Given the description of an element on the screen output the (x, y) to click on. 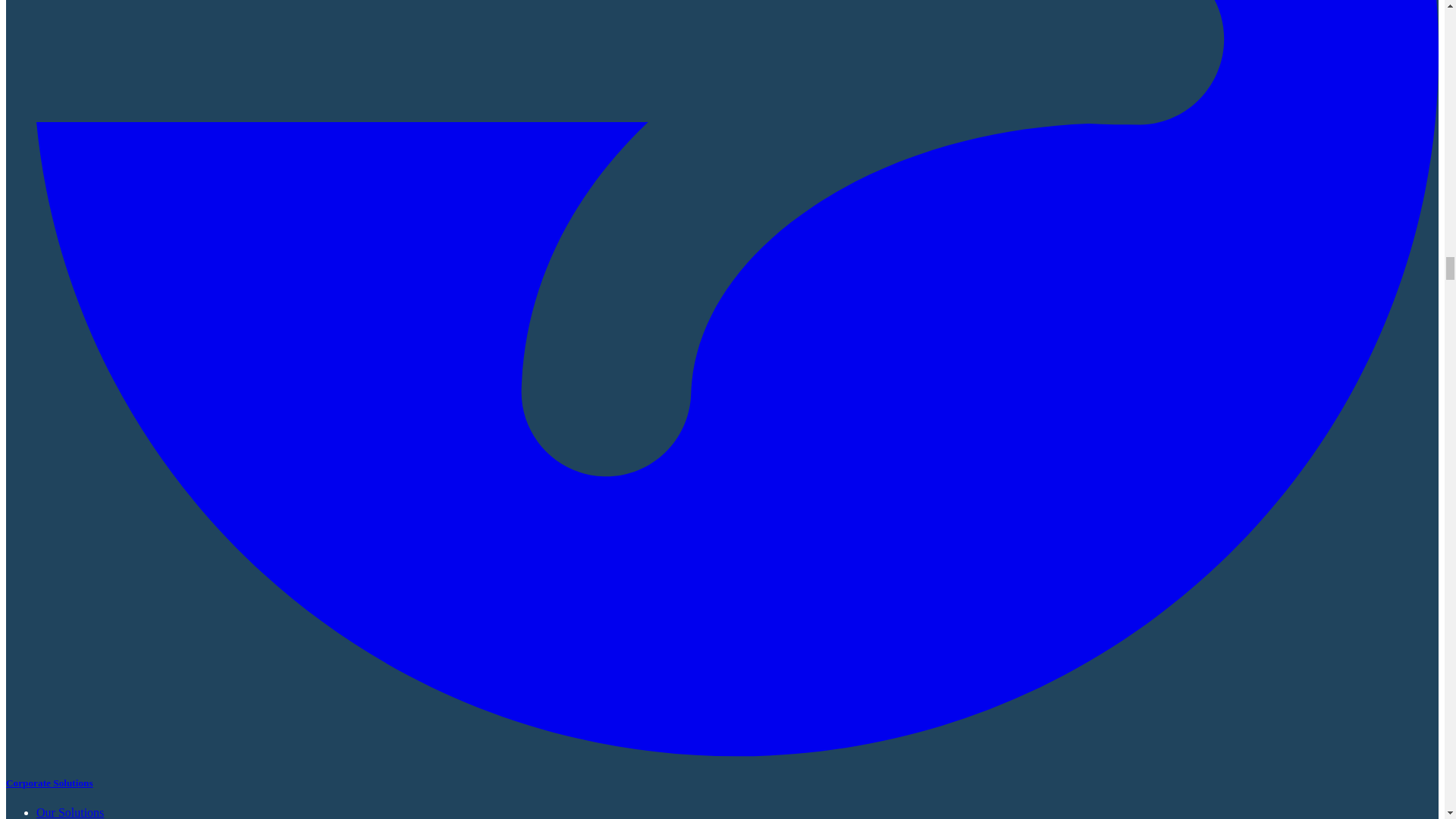
Corporate Solutions (49, 782)
